Given the description of an element on the screen output the (x, y) to click on. 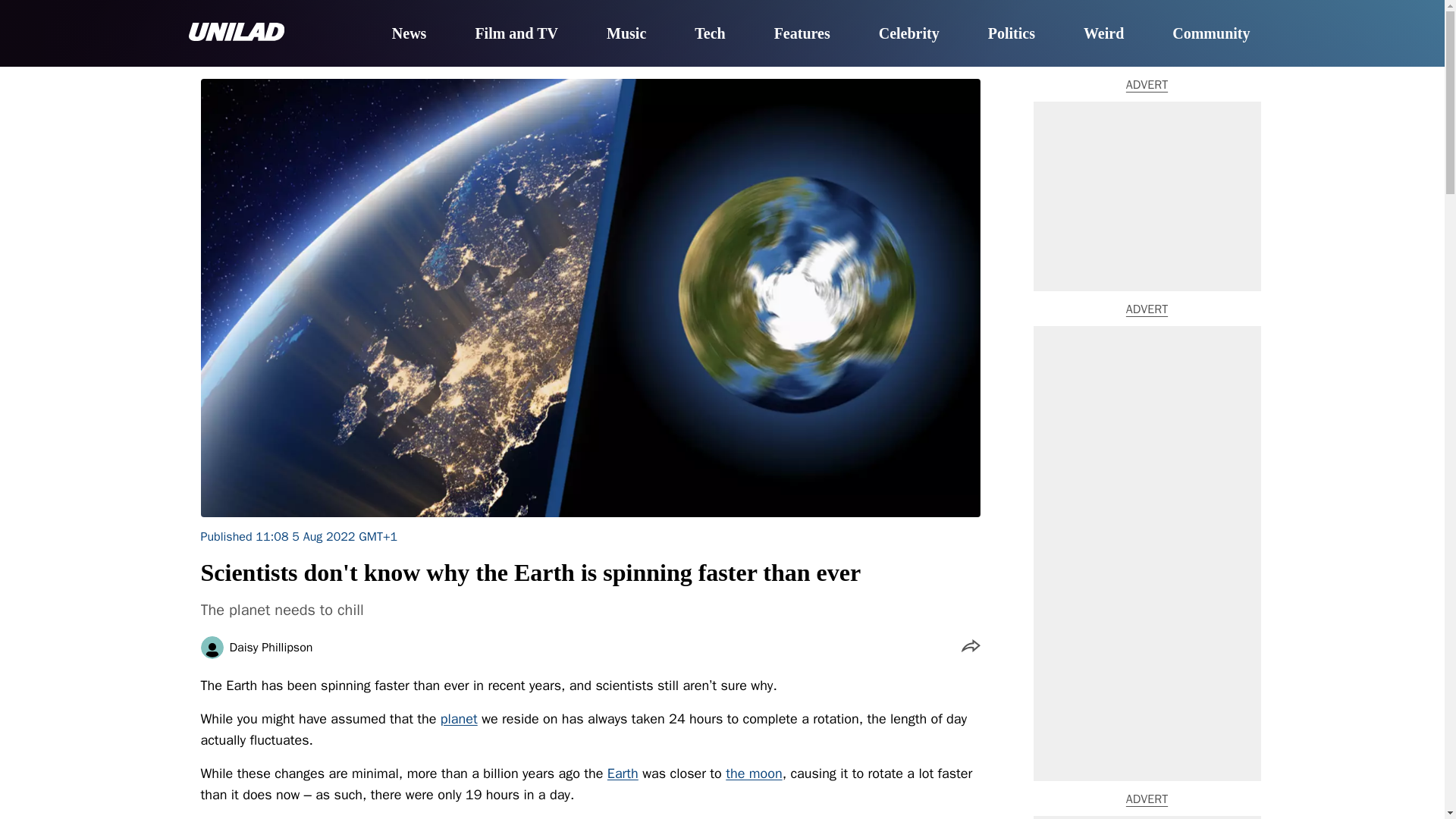
Earth (623, 773)
Celebrity (909, 34)
planet (459, 718)
Community (1210, 34)
Weird (1103, 34)
Politics (1011, 34)
Tech (709, 34)
Daisy Phillipson (270, 647)
News (408, 34)
the moon (753, 773)
